Given the description of an element on the screen output the (x, y) to click on. 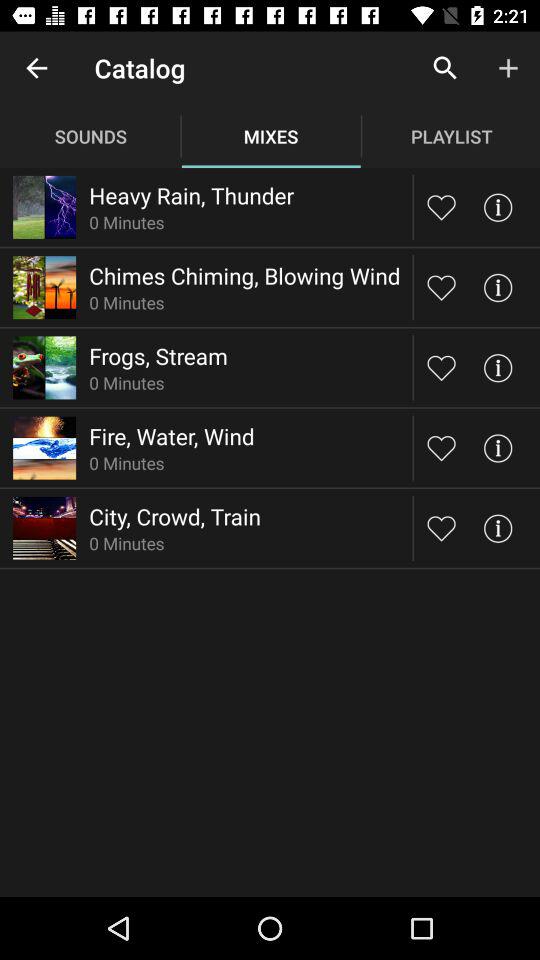
view the information (498, 367)
